Given the description of an element on the screen output the (x, y) to click on. 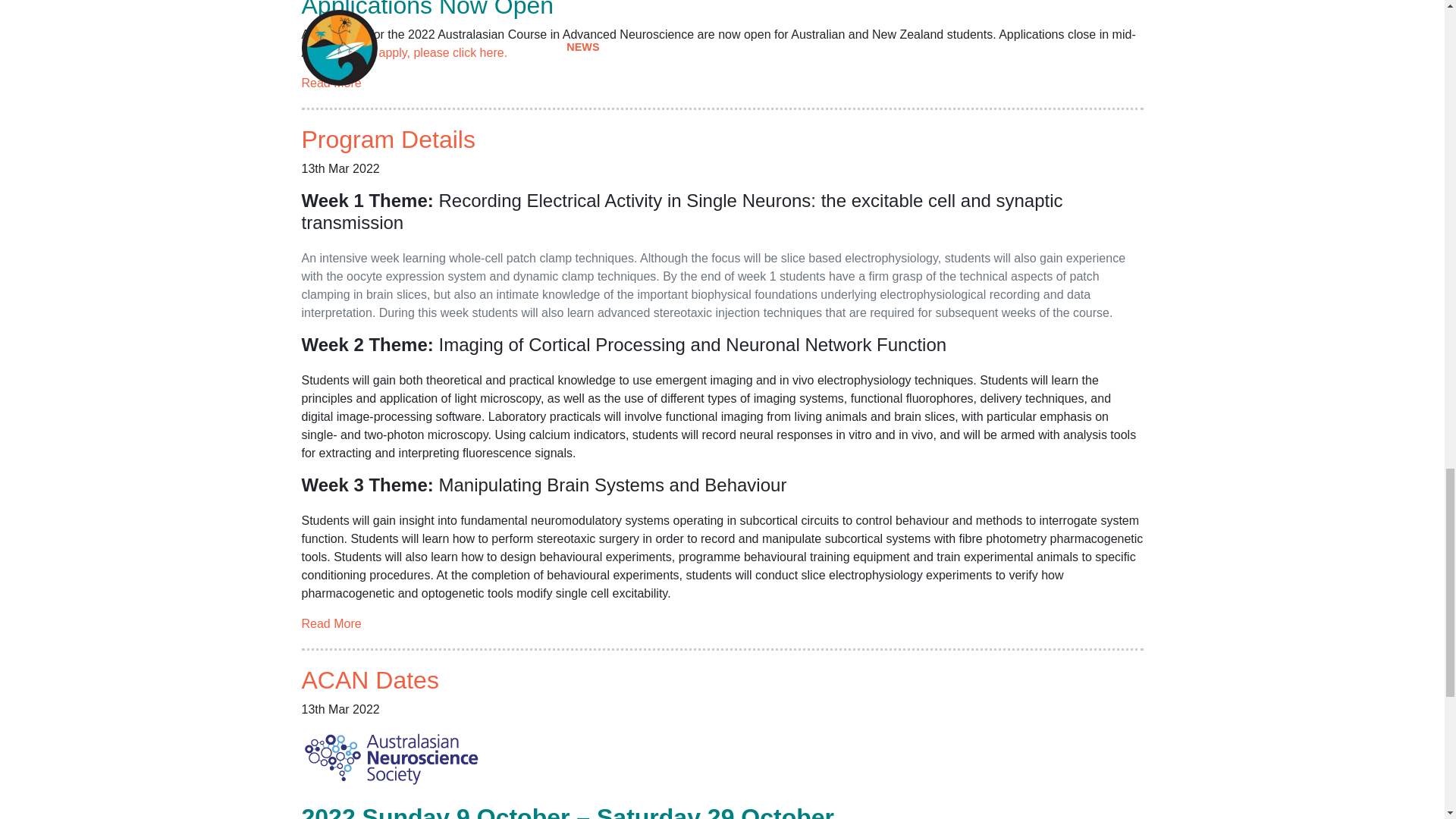
Read More (331, 623)
Read More (331, 82)
ACAN Dates (370, 679)
Program Details (388, 139)
To apply, please click here. (434, 51)
Read More (331, 623)
Read More (331, 82)
